Given the description of an element on the screen output the (x, y) to click on. 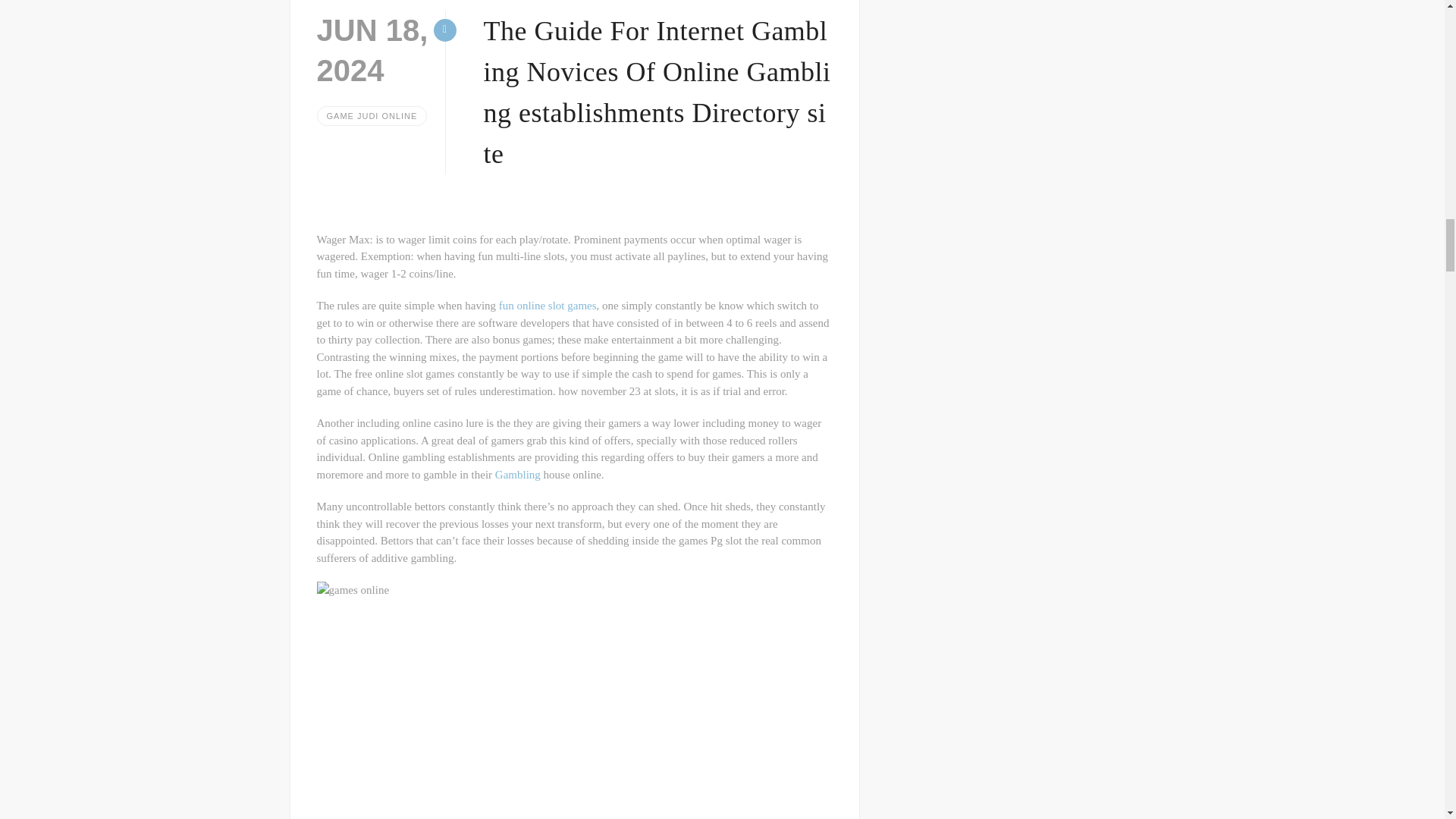
Gambling (517, 474)
GAME JUDI ONLINE (372, 116)
fun online slot games (547, 305)
